Given the description of an element on the screen output the (x, y) to click on. 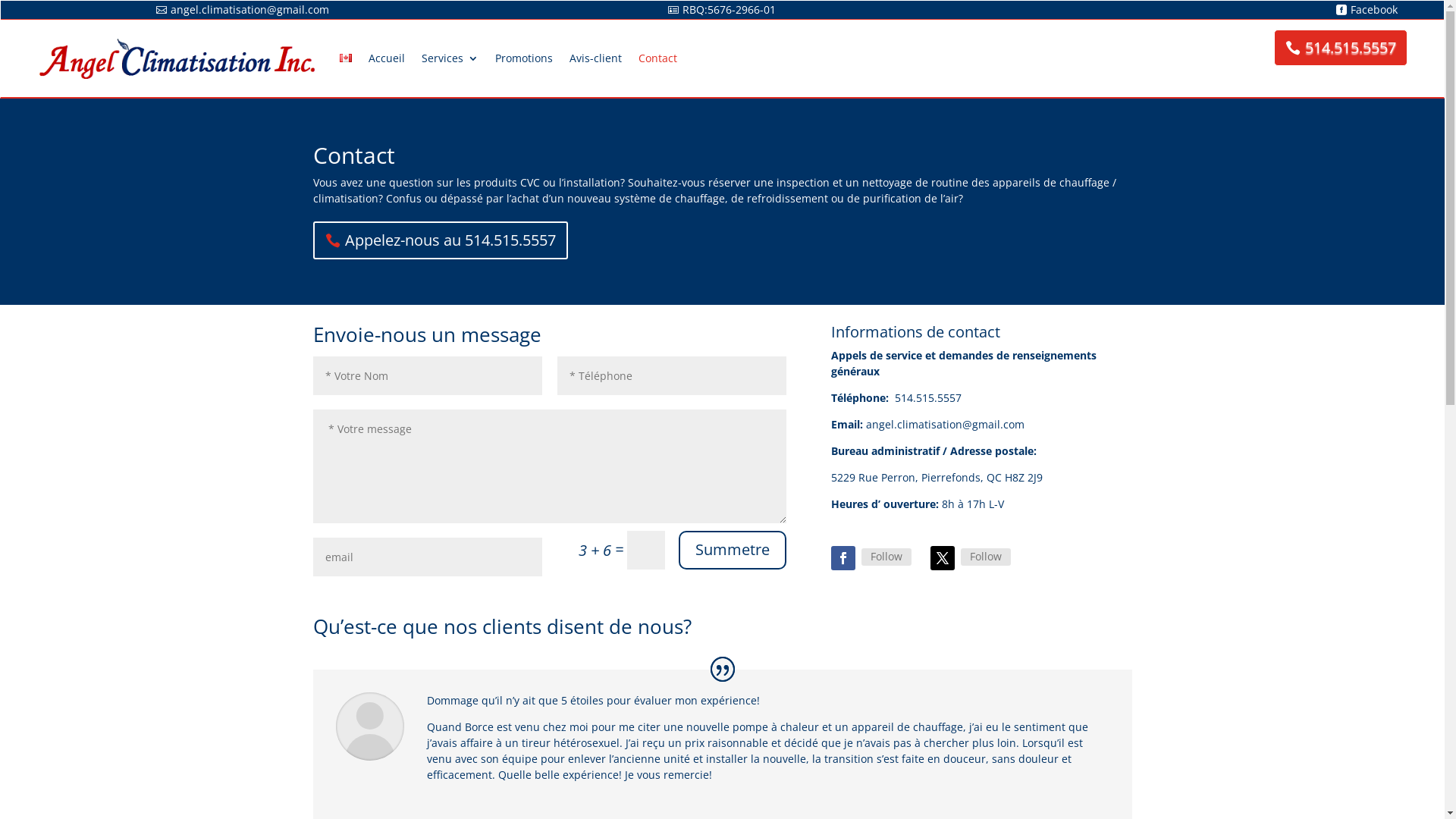
Appelez-nous au 514.515.5557 Element type: text (439, 240)
Only letters and numbers allowed. Element type: hover (671, 375)
Contact Element type: text (657, 58)
Promotions Element type: text (523, 58)
Follow on Facebook Element type: hover (843, 558)
514.515.5557 Element type: text (1340, 47)
Avis-client Element type: text (595, 58)
Follow on X Element type: hover (942, 558)
Summetre Element type: text (732, 549)
Accueil Element type: text (386, 58)
Follow Element type: text (985, 556)
Follow Element type: text (886, 556)
Services Element type: text (449, 58)
